Given the description of an element on the screen output the (x, y) to click on. 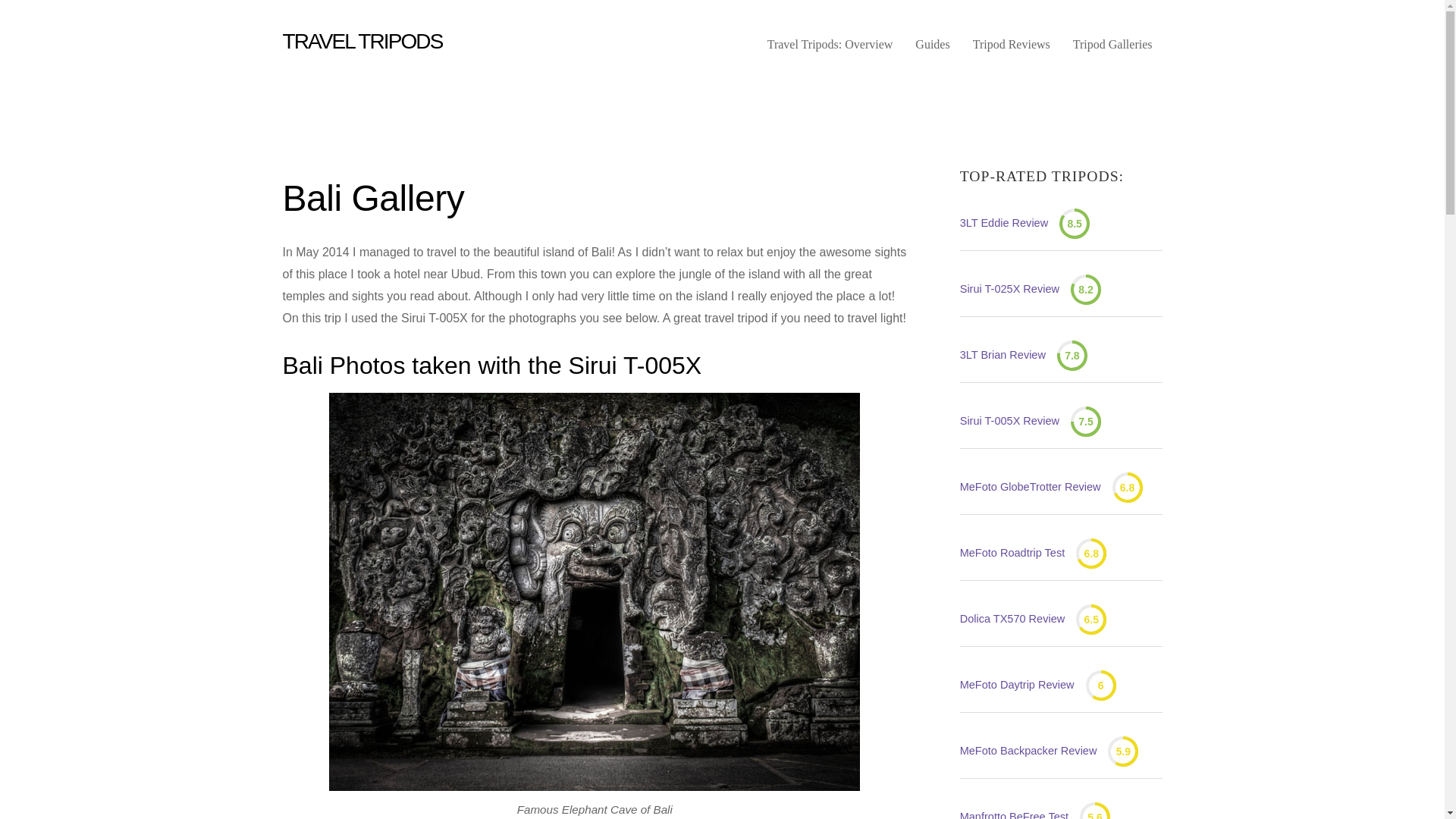
TRAVEL TRIPODS (362, 41)
Sirui T-005X Review (1009, 421)
MeFoto Roadtrip Test (1012, 553)
Sirui T-005X (1009, 421)
MeFoto GlobeTrotter Review (1029, 486)
MeFoto GlobeTrotter (1029, 486)
MeFoto Backpacker (1028, 751)
Dolica TX570 (1012, 619)
Three Legged Thing Eddie (1003, 223)
Sirui T-025X (1009, 289)
Three Legged Thing Brian (1002, 355)
MeFoto Roadtrip Test (1012, 553)
Tripod Galleries (1112, 50)
Dolica TX570 Review (1012, 619)
3LT Brian Review (1002, 355)
